Given the description of an element on the screen output the (x, y) to click on. 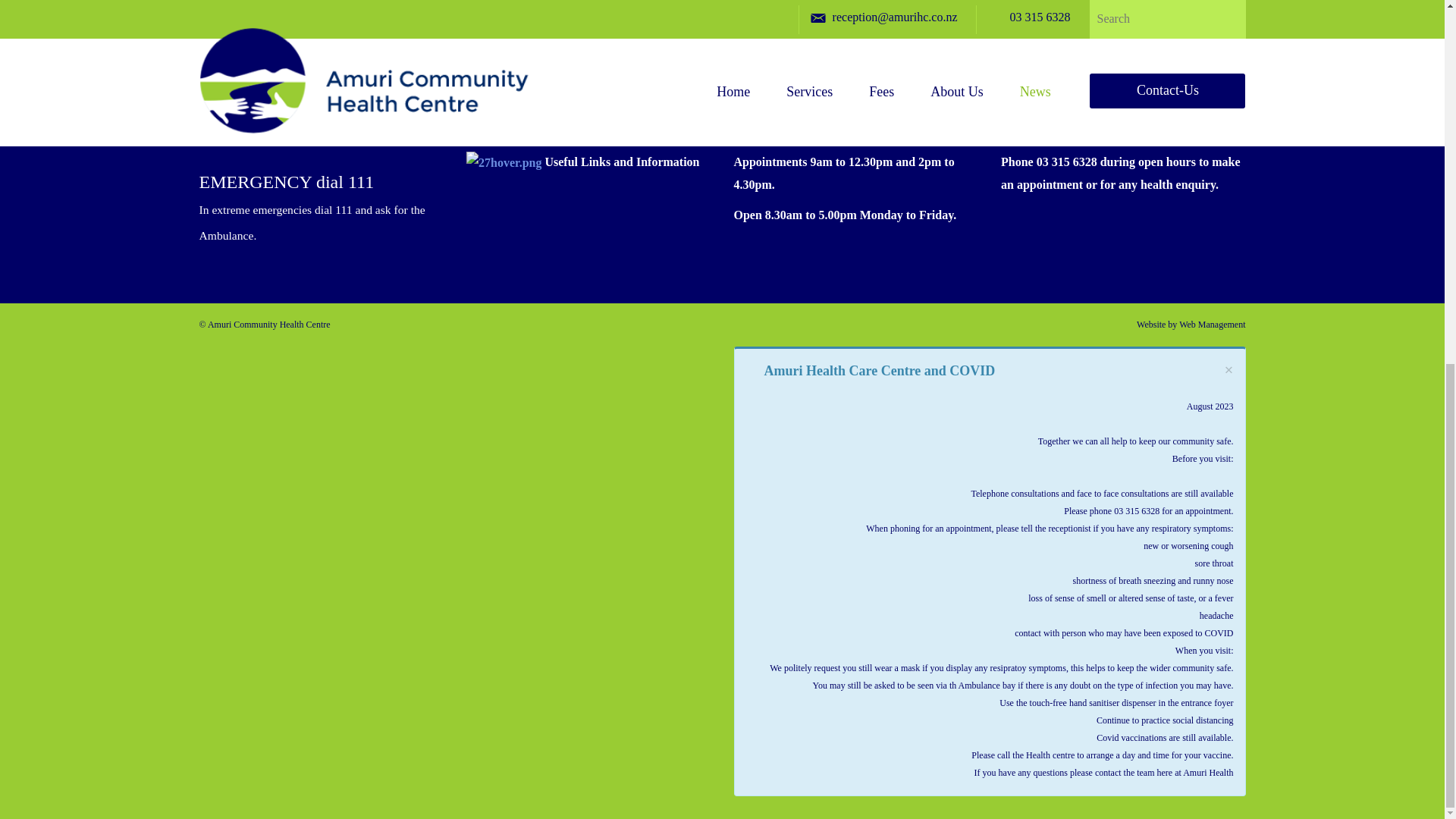
Contact Us (859, 6)
